Given the description of an element on the screen output the (x, y) to click on. 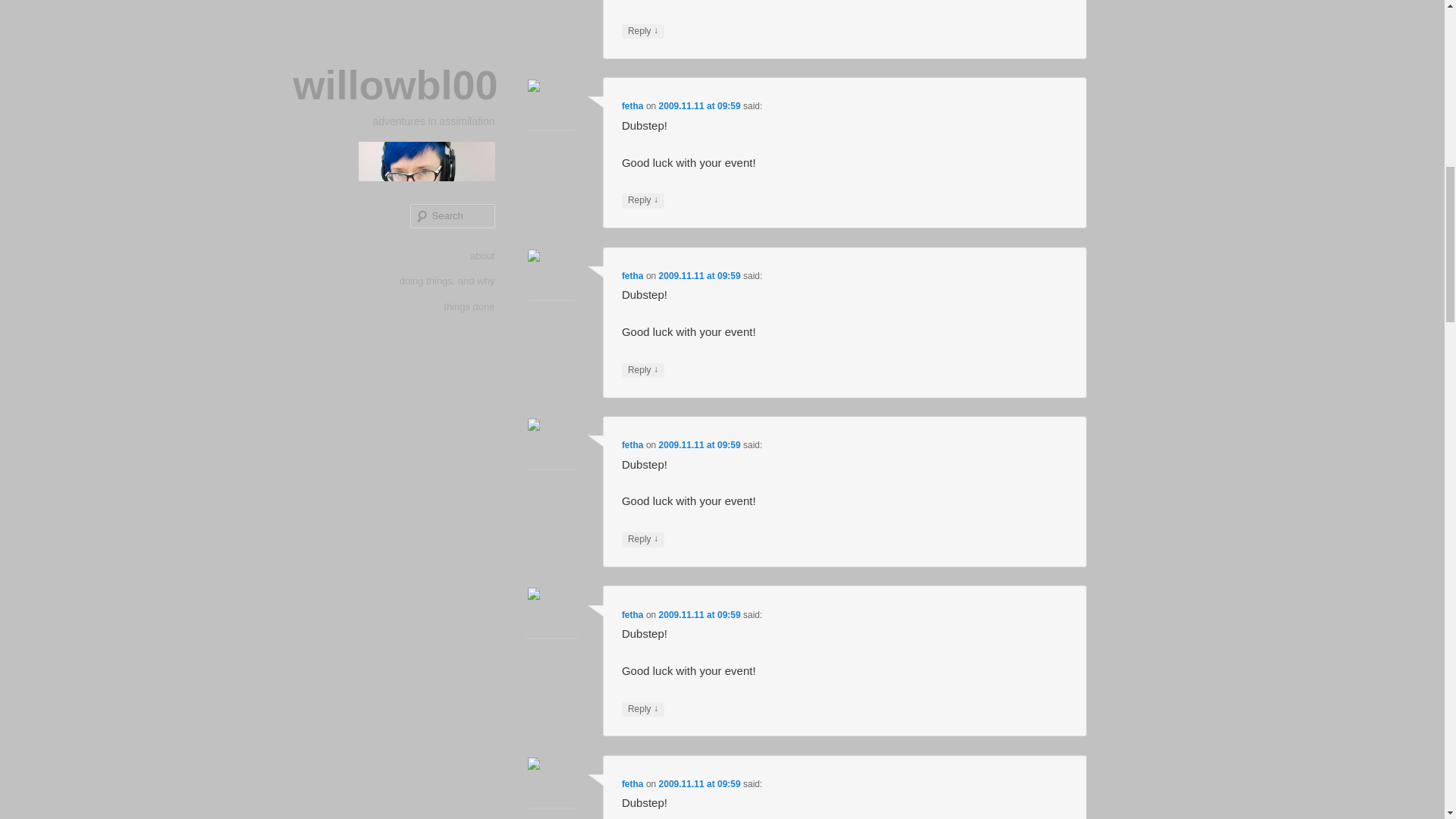
fetha (632, 276)
fetha (632, 105)
2009.11.11 at 09:59 (700, 276)
2009.11.11 at 09:59 (700, 105)
